Given the description of an element on the screen output the (x, y) to click on. 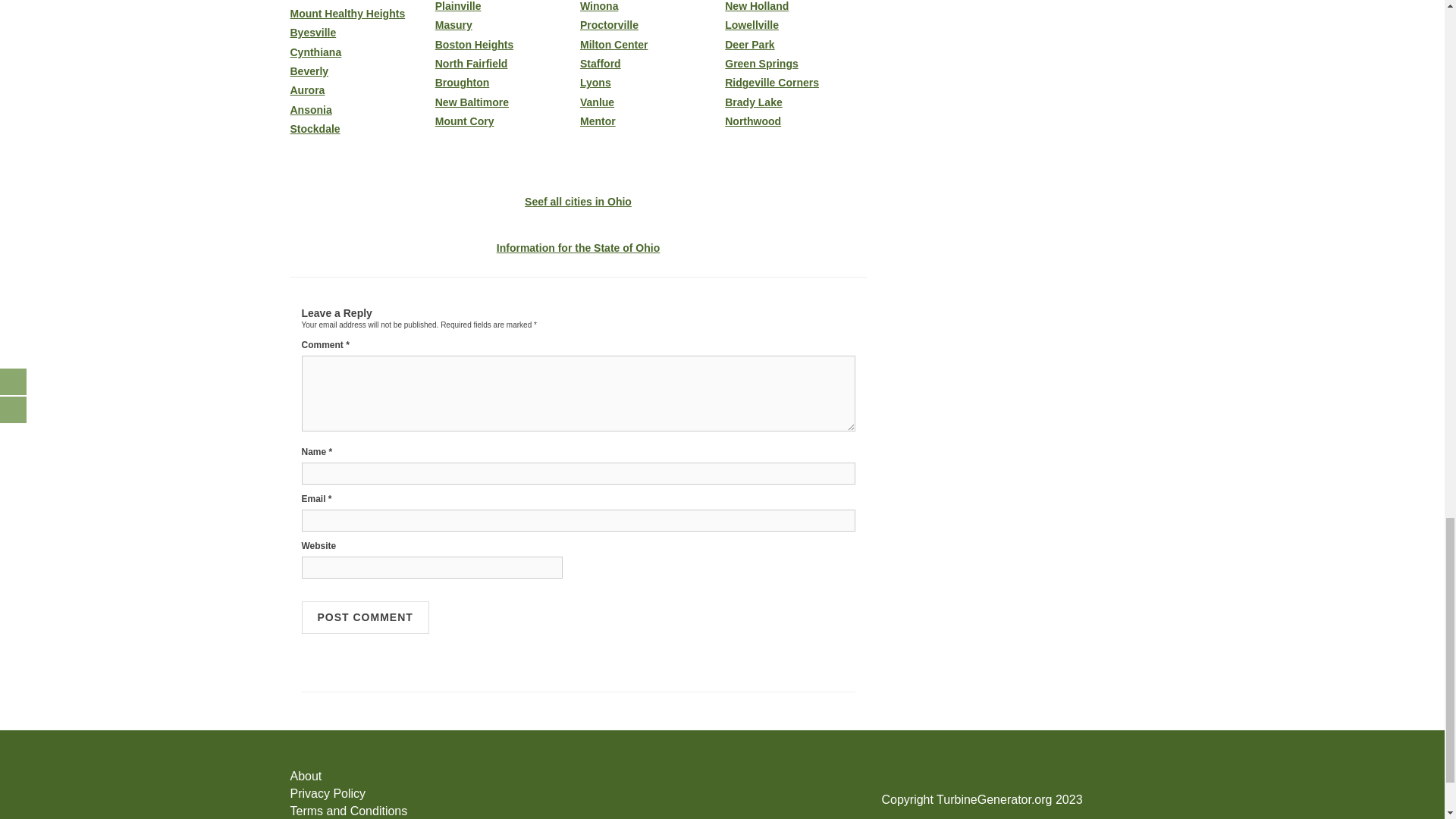
Milton Center (649, 44)
Beverly (359, 71)
Cynthiana (359, 52)
Aurora (359, 90)
Mount Cory (505, 121)
New Baltimore (505, 102)
North Fairfield (505, 63)
Ansonia (359, 110)
Proctorville (649, 25)
Byesville (359, 32)
